Given the description of an element on the screen output the (x, y) to click on. 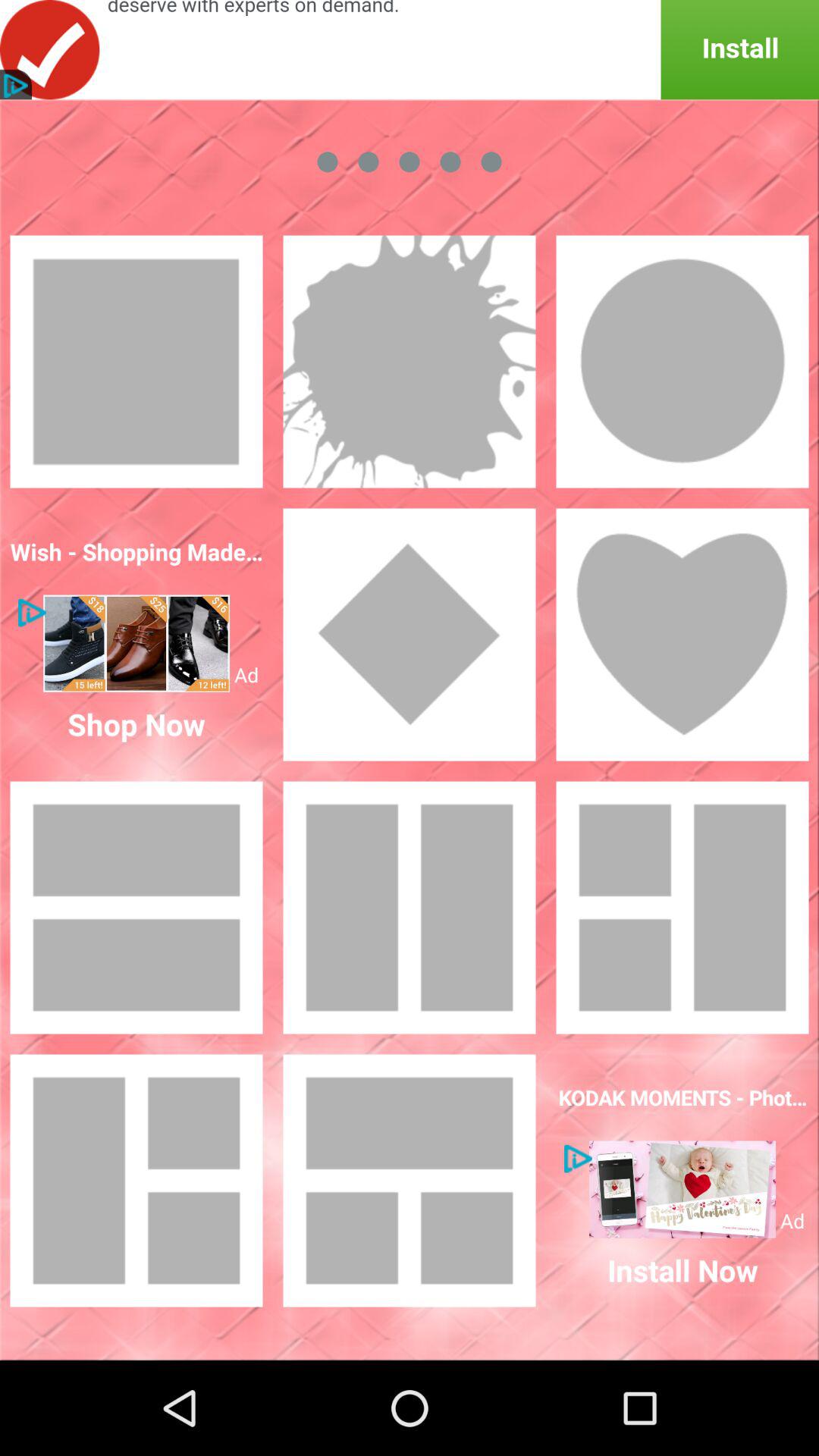
swtich autoplay option (409, 634)
